Given the description of an element on the screen output the (x, y) to click on. 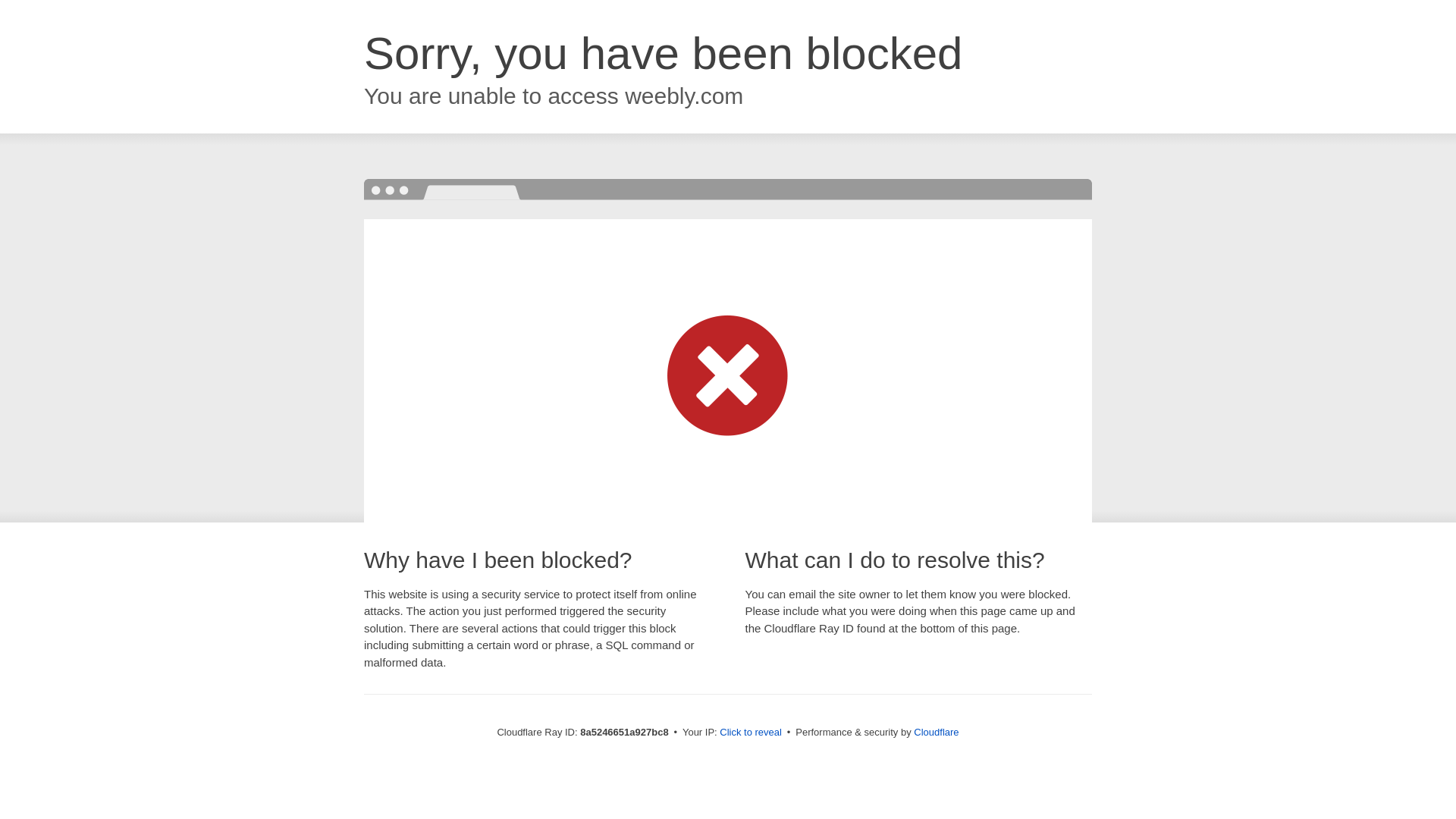
Click to reveal (750, 732)
Cloudflare (936, 731)
